Given the description of an element on the screen output the (x, y) to click on. 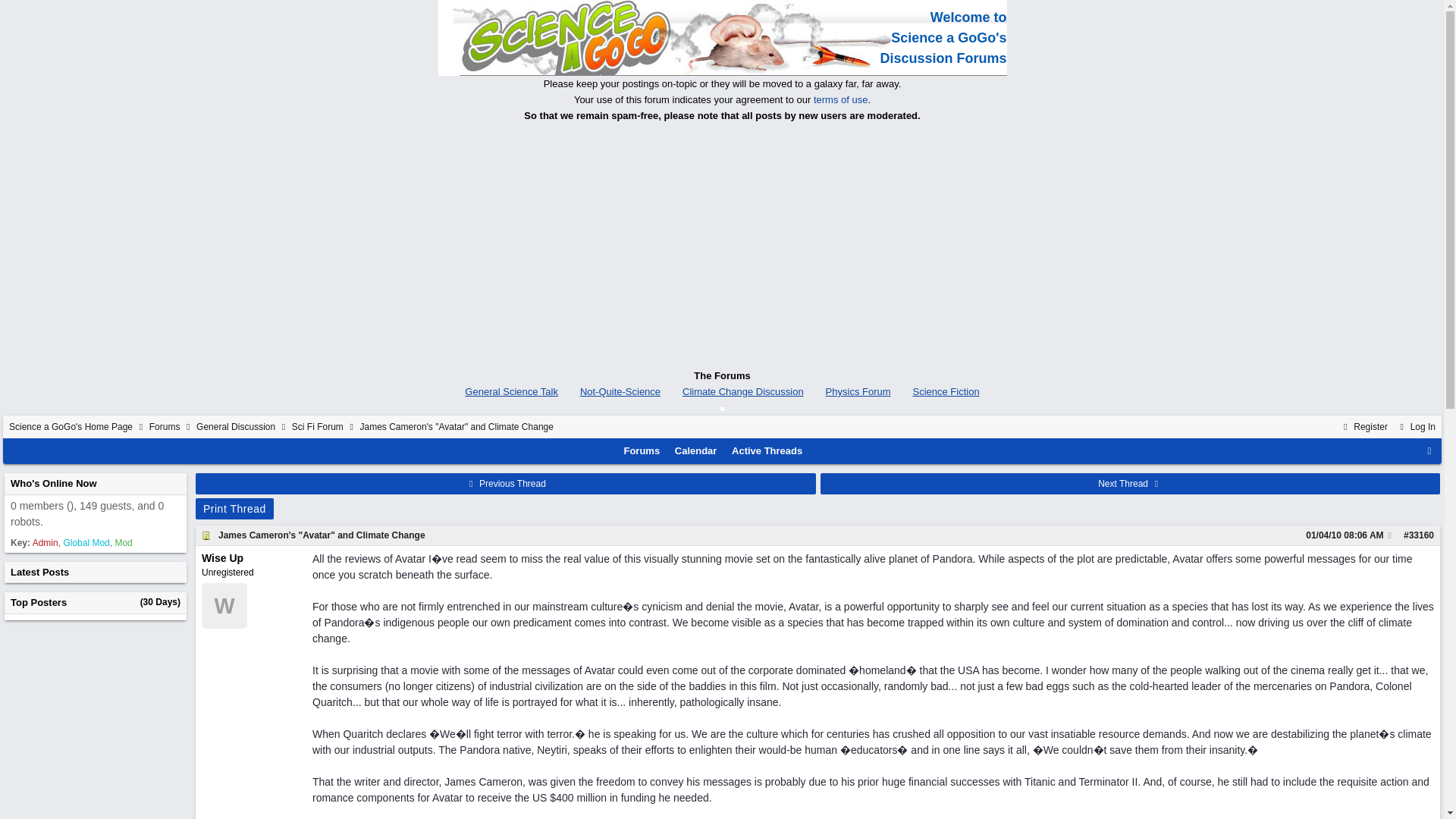
33160 (1421, 534)
Forums (641, 450)
Science a GoGo's Home Page (70, 426)
General Discussion (235, 426)
Physics Forum (858, 391)
Sci Fi Forum (317, 426)
Calendar (695, 450)
Active Threads (767, 450)
James Cameron's "Avatar" and Climate Change (321, 534)
